Given the description of an element on the screen output the (x, y) to click on. 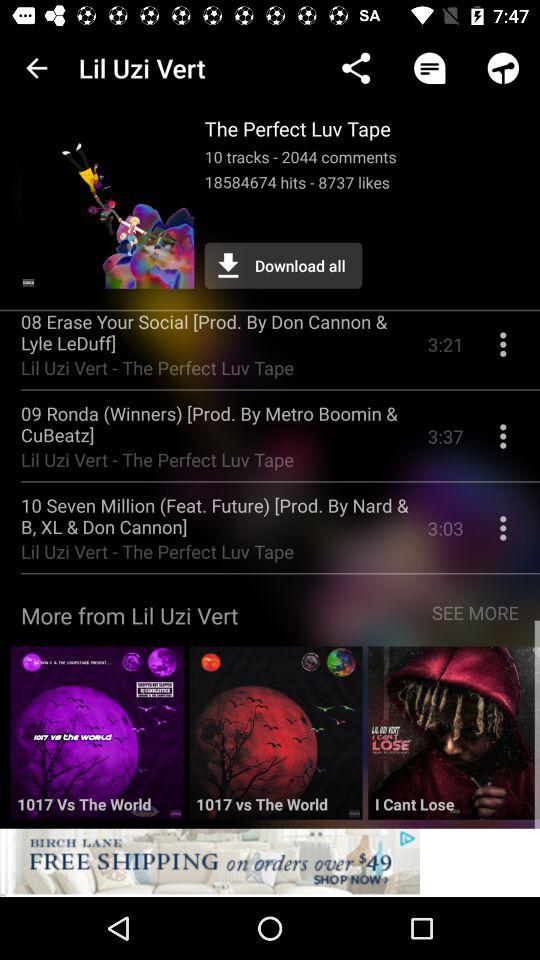
launch icon to the right of more from lil item (475, 619)
